Given the description of an element on the screen output the (x, y) to click on. 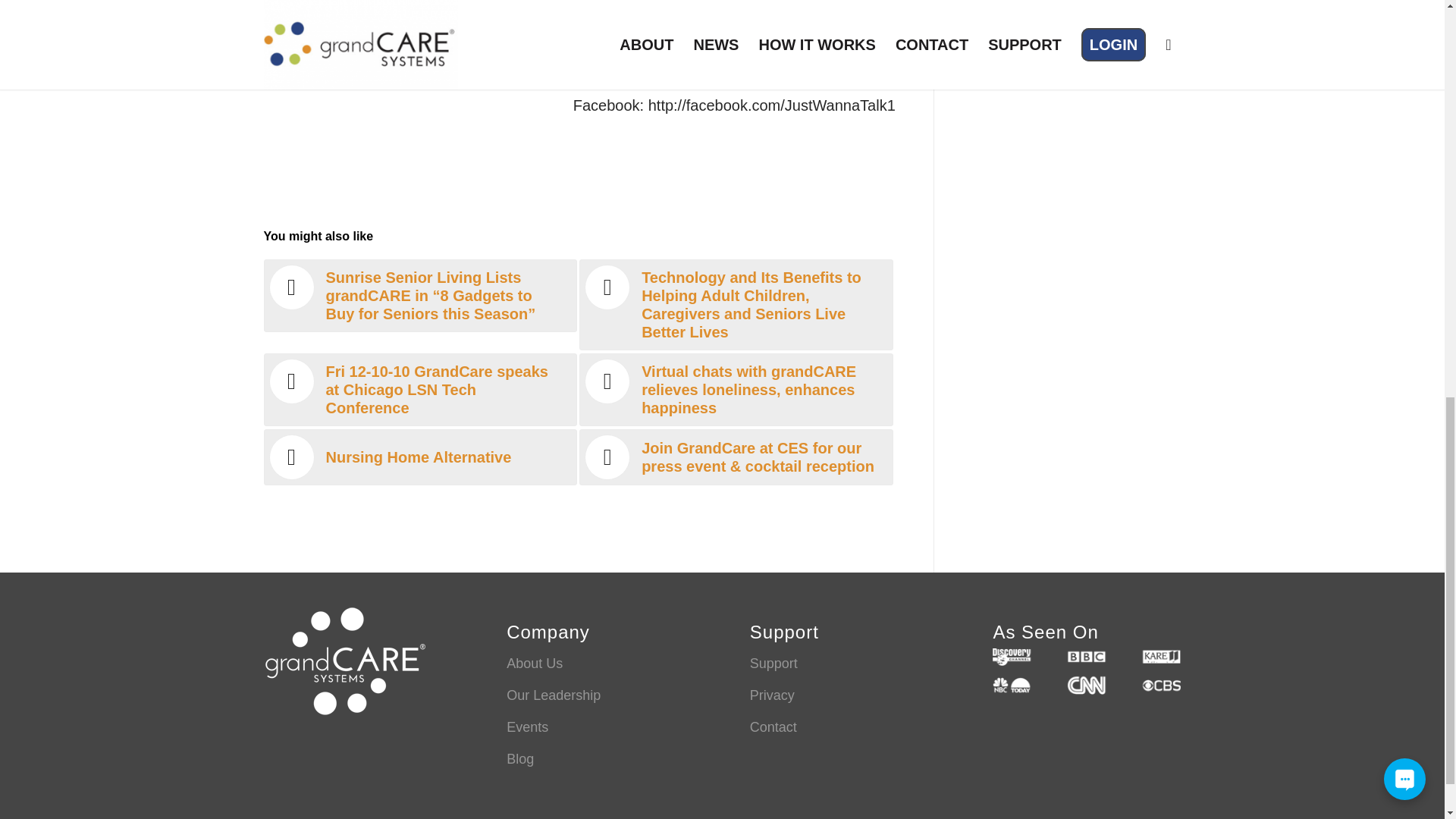
Nursing Home Alternative (420, 457)
Fri 12-10-10 GrandCare speaks at Chicago LSN Tech Conference (420, 388)
Nursing Home Alternative (420, 457)
Fri 12-10-10 GrandCare speaks at Chicago LSN Tech Conference (420, 388)
